Given the description of an element on the screen output the (x, y) to click on. 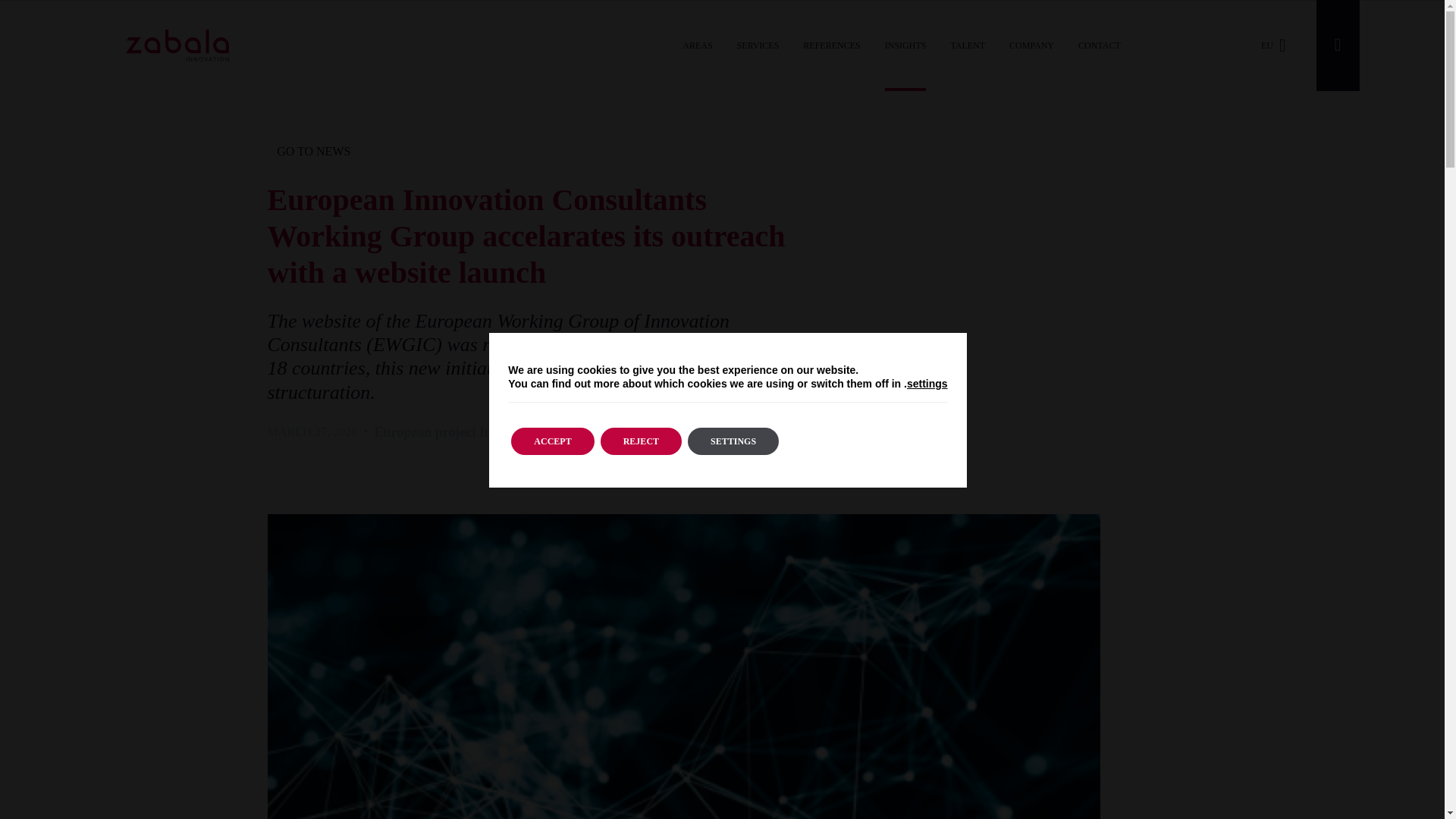
SERVICES (758, 45)
TALENT (967, 45)
Zabala Innovation (176, 44)
COMPANY (1031, 45)
INSIGHTS (905, 45)
REFERENCES (831, 45)
AREAS (696, 45)
